Given the description of an element on the screen output the (x, y) to click on. 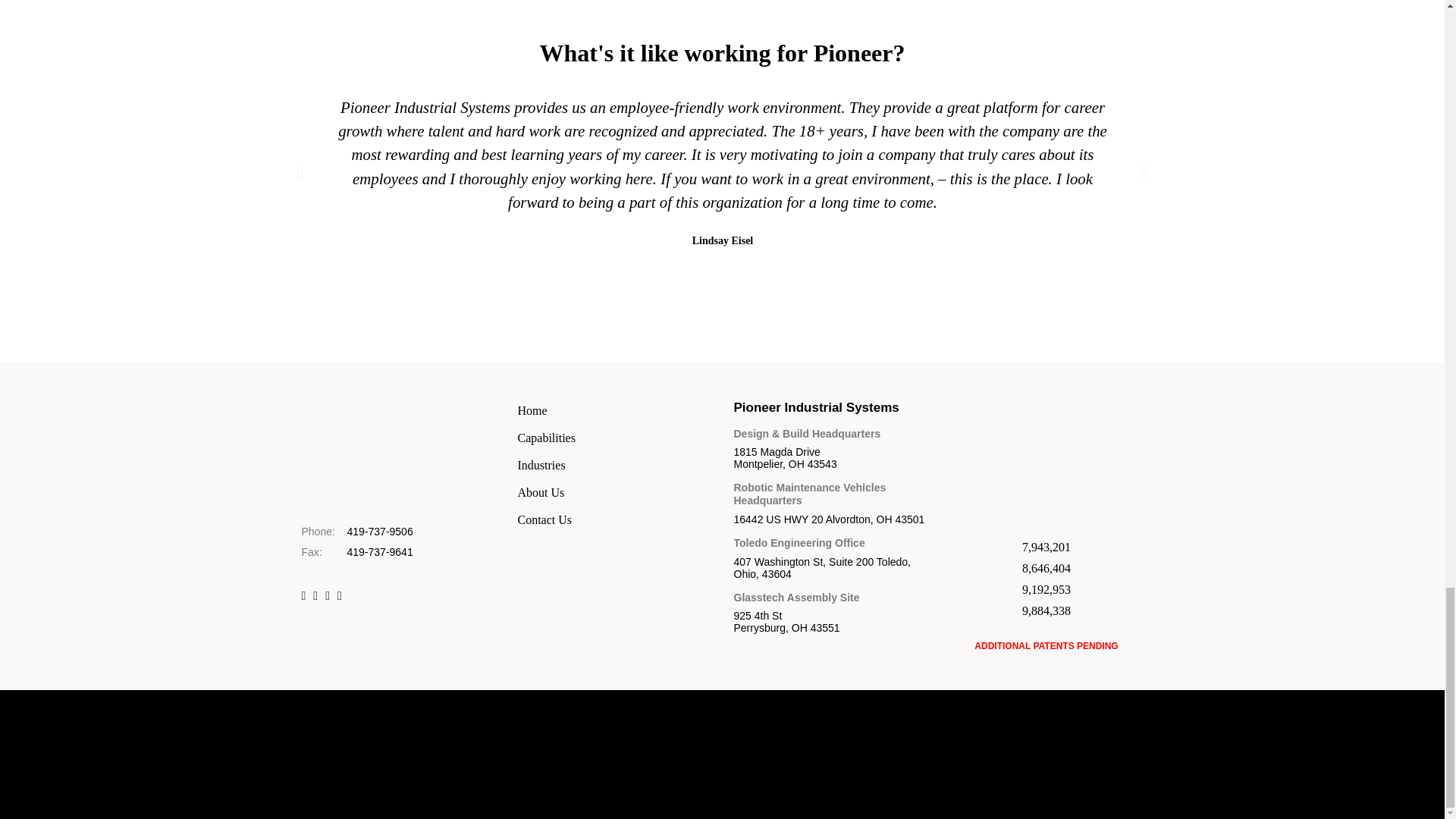
Pioneer Industrial Systems (398, 502)
